Given the description of an element on the screen output the (x, y) to click on. 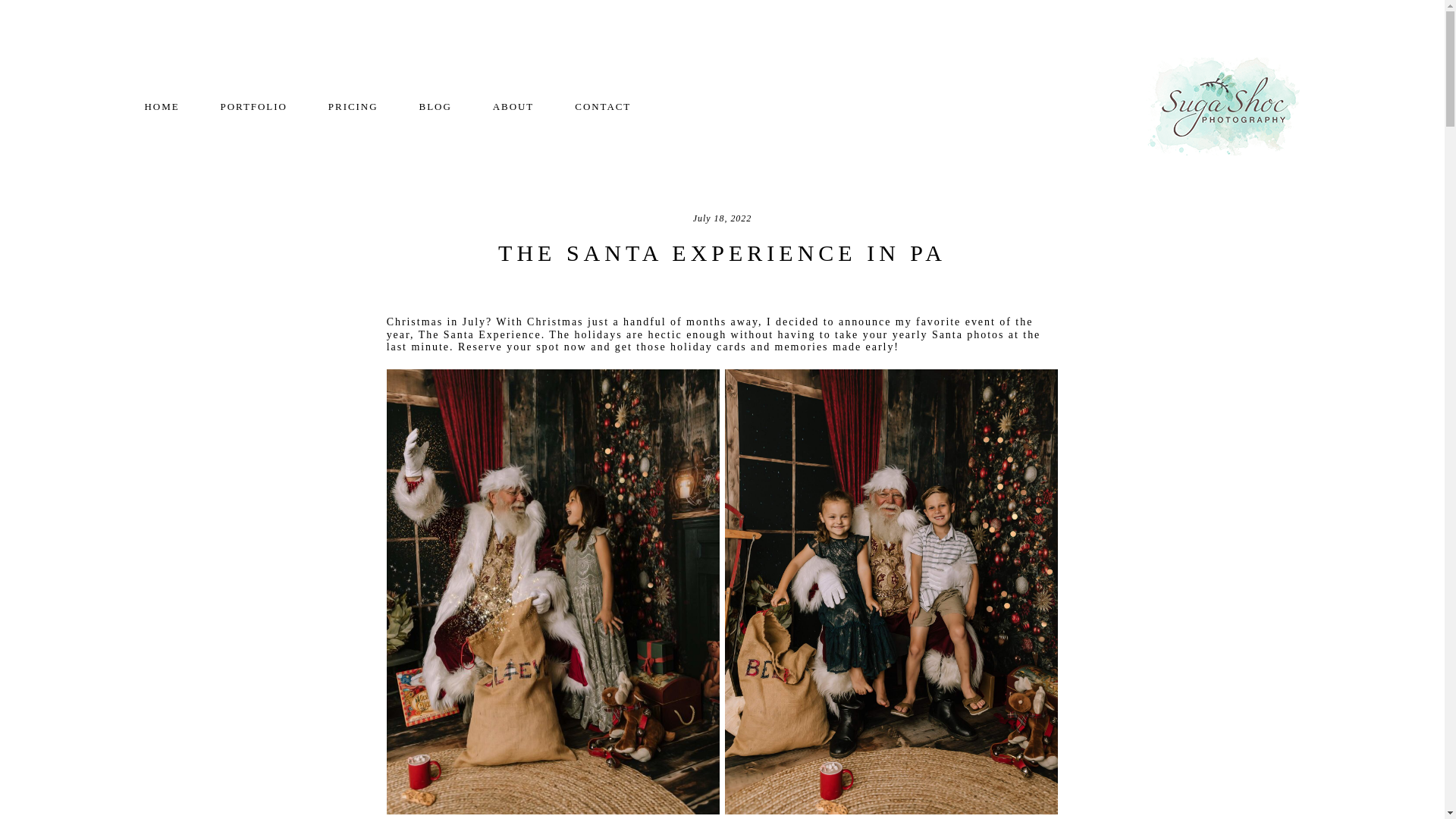
HOME (161, 106)
PRICING (353, 106)
BLOG (435, 106)
